Given the description of an element on the screen output the (x, y) to click on. 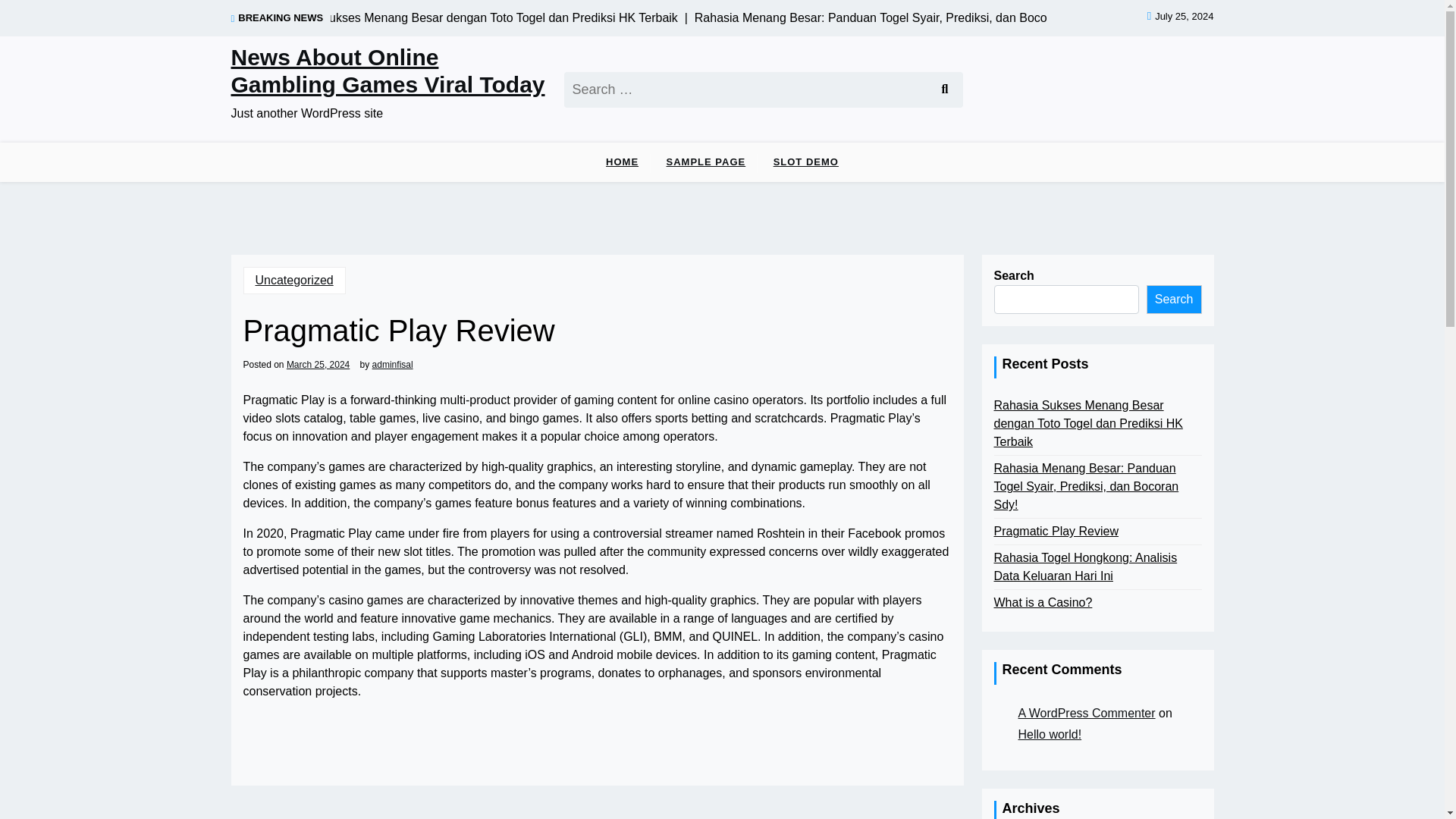
March 25, 2024 (317, 363)
Rahasia Togel Hongkong: Analisis Data Keluaran Hari Ini (1096, 566)
Search (943, 89)
Hello world! (1049, 734)
Search (943, 89)
A WordPress Commenter (1085, 713)
News About Online Gambling Games Viral Today (388, 71)
Search (943, 89)
SLOT DEMO (805, 161)
Pragmatic Play Review (1055, 531)
adminfisal (392, 363)
HOME (622, 161)
Uncategorized (294, 280)
What is a Casino? (1042, 602)
